Given the description of an element on the screen output the (x, y) to click on. 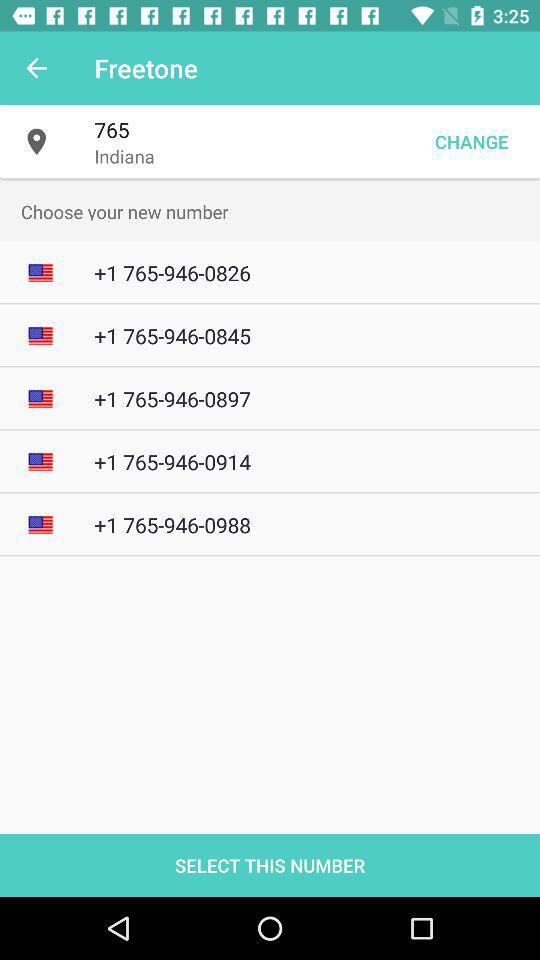
jump to the change item (471, 141)
